Given the description of an element on the screen output the (x, y) to click on. 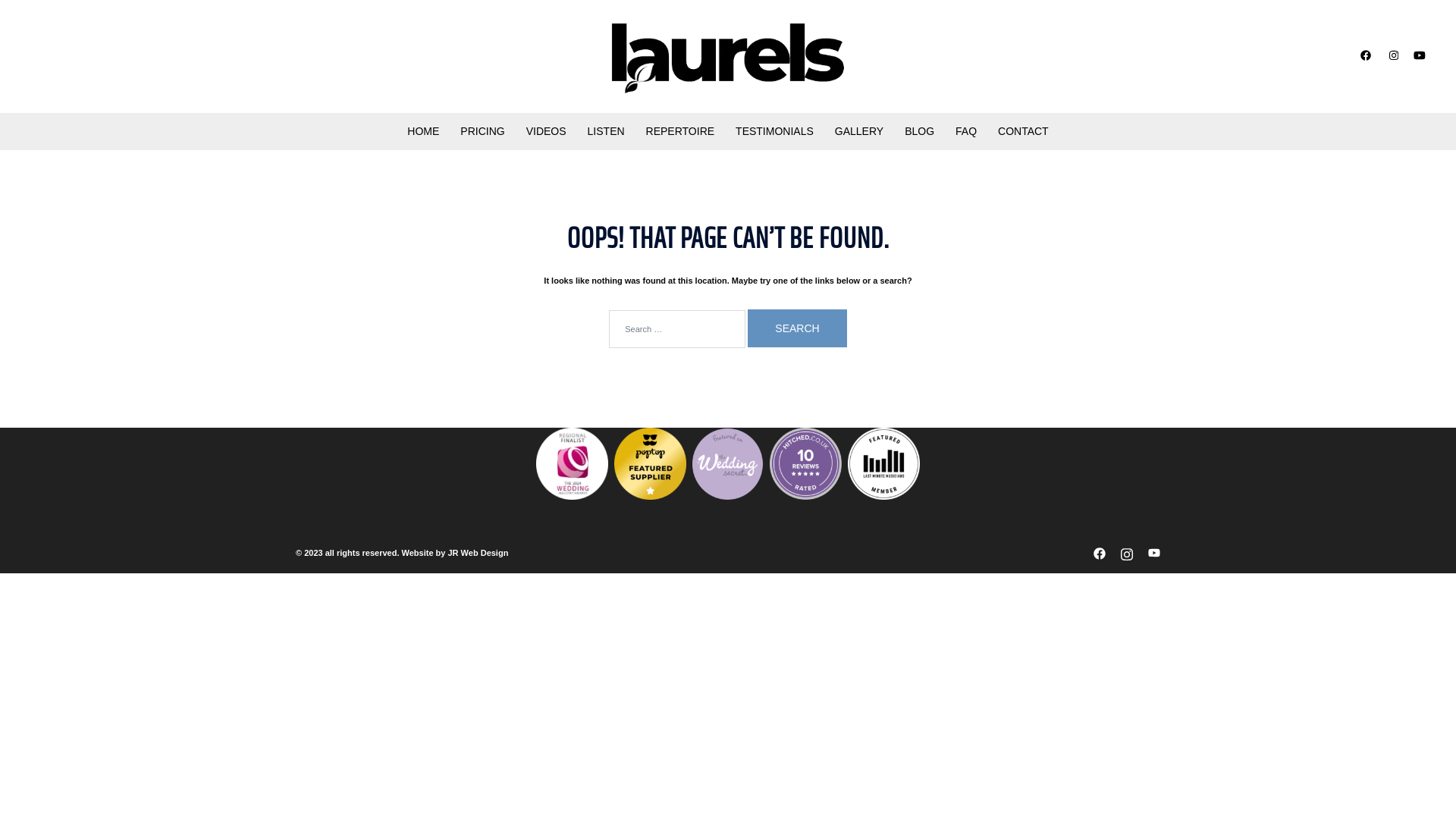
PRICING Element type: text (482, 131)
https://www.youtube.com/@LaurelsBandUK Element type: text (1419, 55)
REPERTOIRE Element type: text (680, 131)
Search Element type: text (796, 328)
https://www.facebook.com/Laurels-104085485150636 Element type: text (1099, 552)
HOME Element type: text (423, 131)
GALLERY Element type: text (858, 131)
CONTACT Element type: text (1022, 131)
https://www.facebook.com/laurelsbanduk Element type: text (1364, 55)
JR Web Design Element type: text (477, 552)
FAQ Element type: text (965, 131)
LISTEN Element type: text (605, 131)
VIDEOS Element type: text (546, 131)
https://www.instagram.com/laurelsbanduk/ Element type: text (1126, 552)
TESTIMONIALS Element type: text (774, 131)
https://www.instagram.com/laurelsbanduk/ Element type: text (1392, 55)
BLOG Element type: text (919, 131)
https://www.youtube.com/@LaurelsBandUK Element type: text (1154, 552)
